Given the description of an element on the screen output the (x, y) to click on. 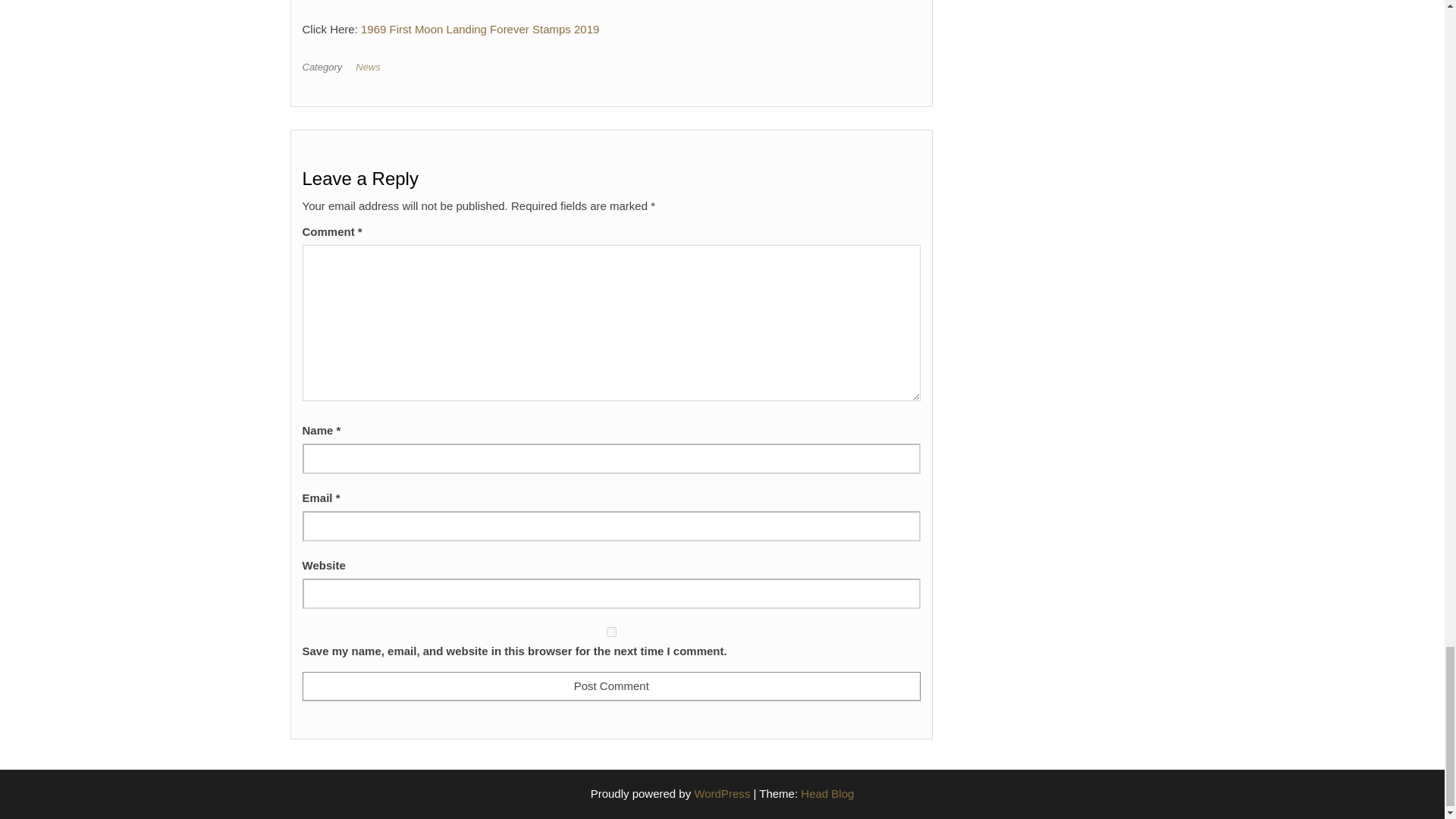
News (371, 66)
yes (610, 632)
Post Comment (610, 686)
Post Comment (610, 686)
1969 First Moon Landing Forever Stamps 2019 (479, 29)
1969 First Moon Landing Forever Stamps 2019 (479, 29)
